Given the description of an element on the screen output the (x, y) to click on. 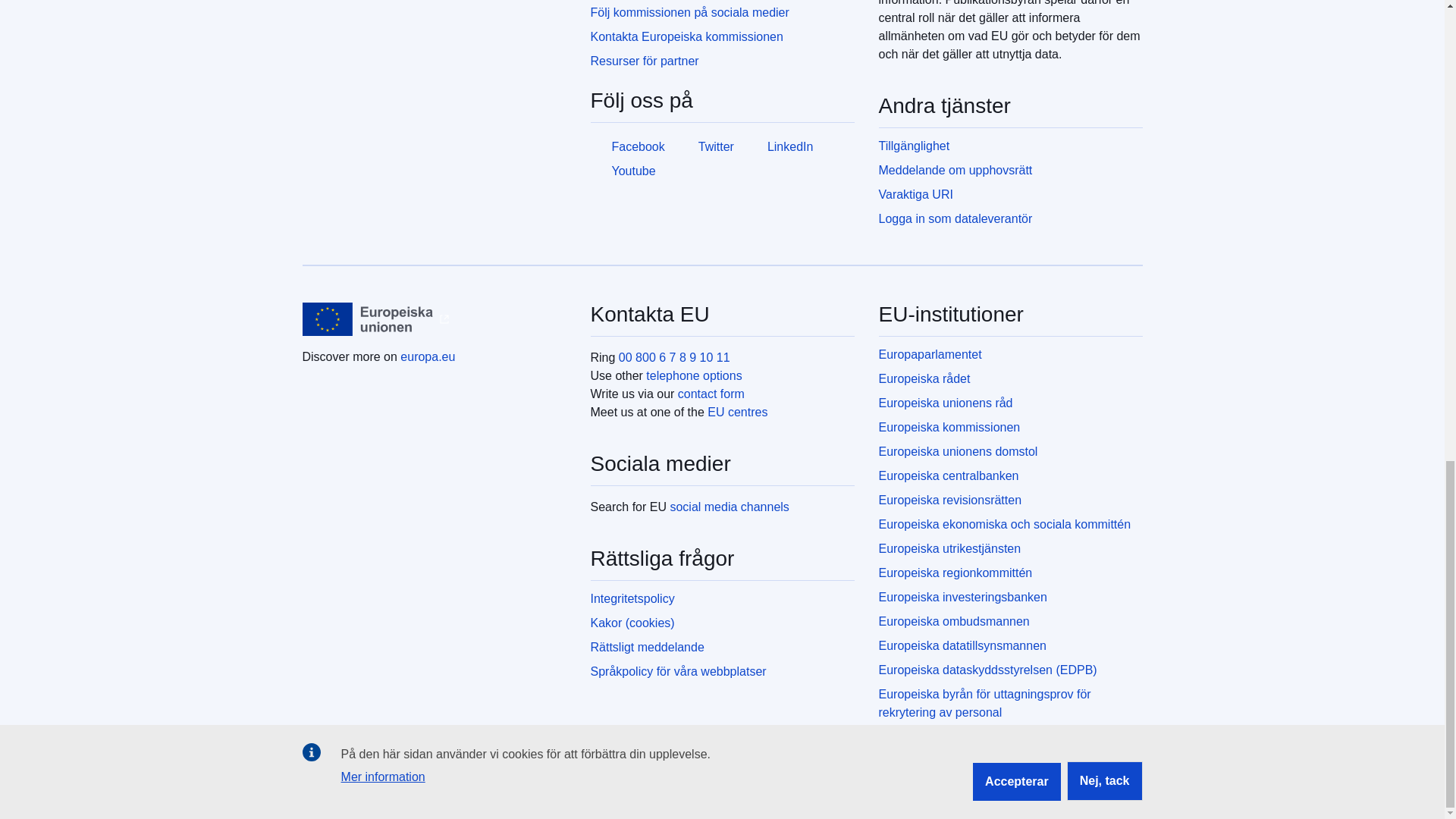
European Union (366, 318)
